Given the description of an element on the screen output the (x, y) to click on. 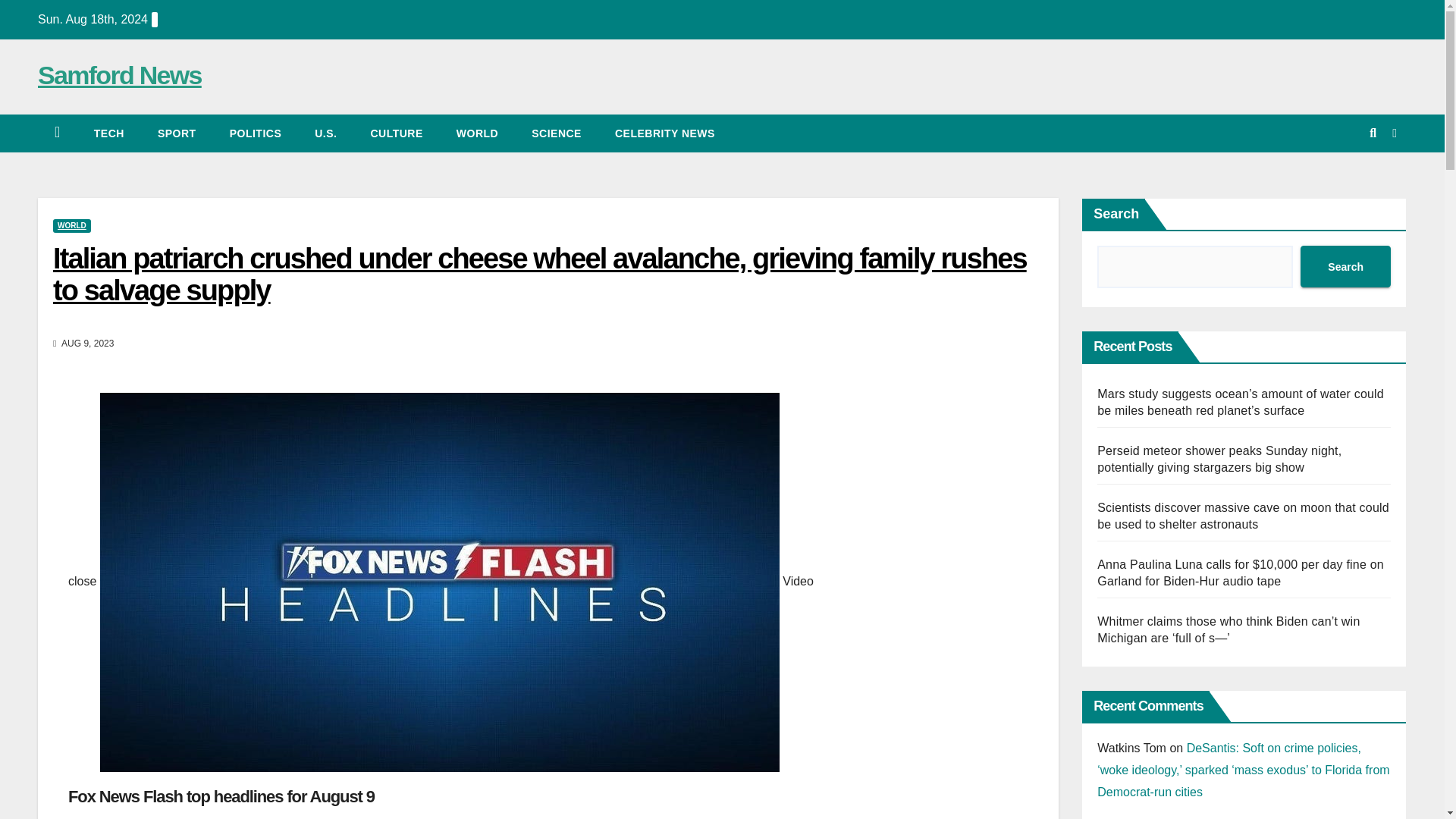
CELEBRITY NEWS (665, 133)
POLITICS (255, 133)
U.S. (325, 133)
Culture (396, 133)
Sport (176, 133)
Science (556, 133)
WORLD (71, 225)
Samford News (119, 74)
